Given the description of an element on the screen output the (x, y) to click on. 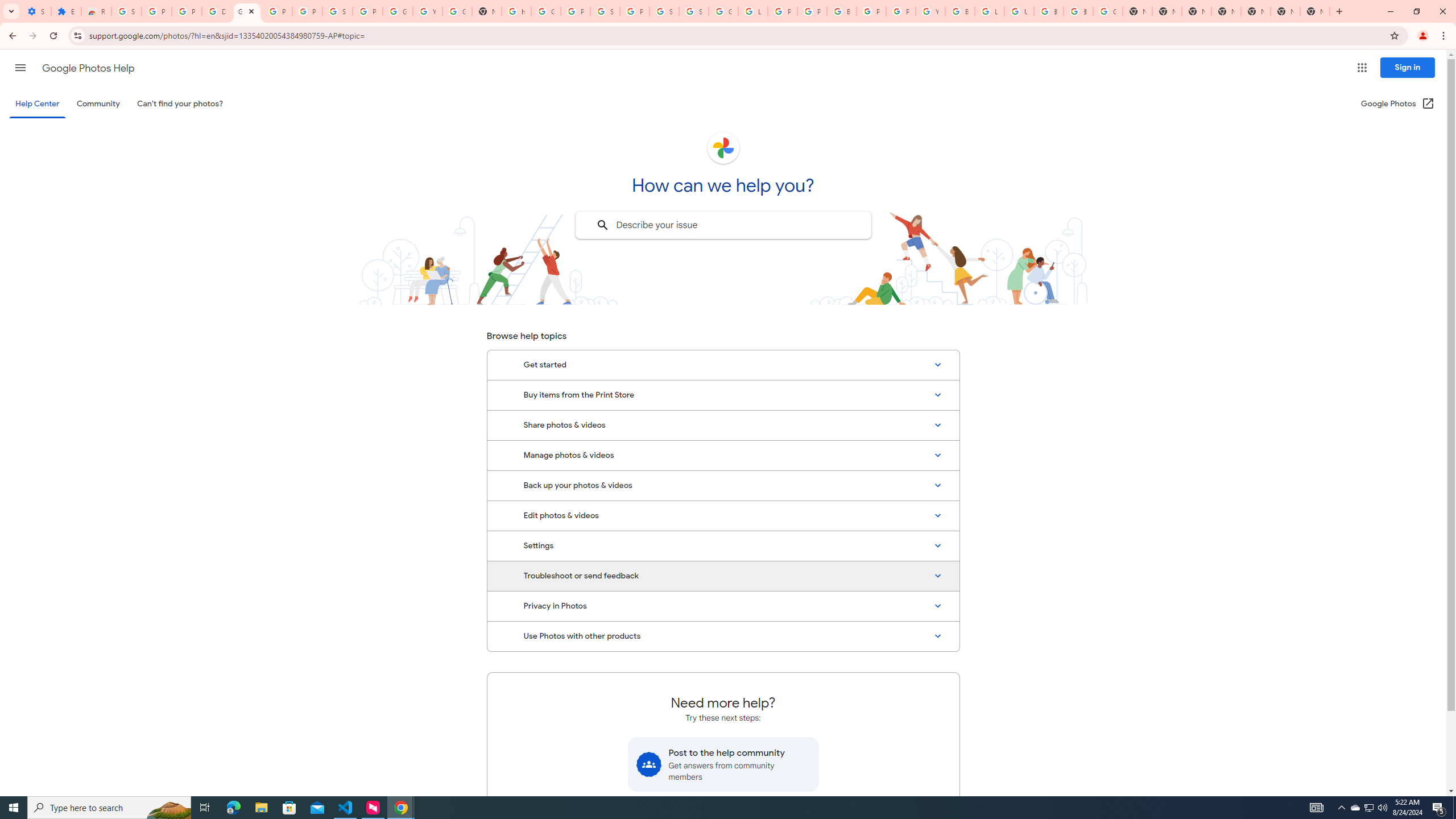
Community (97, 103)
Privacy Help Center - Policies Help (782, 11)
Browse Chrome as a guest - Computer - Google Chrome Help (959, 11)
Google Photos Help (247, 11)
Help Center (36, 103)
Settings - On startup (36, 11)
Privacy in Photos (722, 605)
Buy items from the Print Store (722, 395)
